Given the description of an element on the screen output the (x, y) to click on. 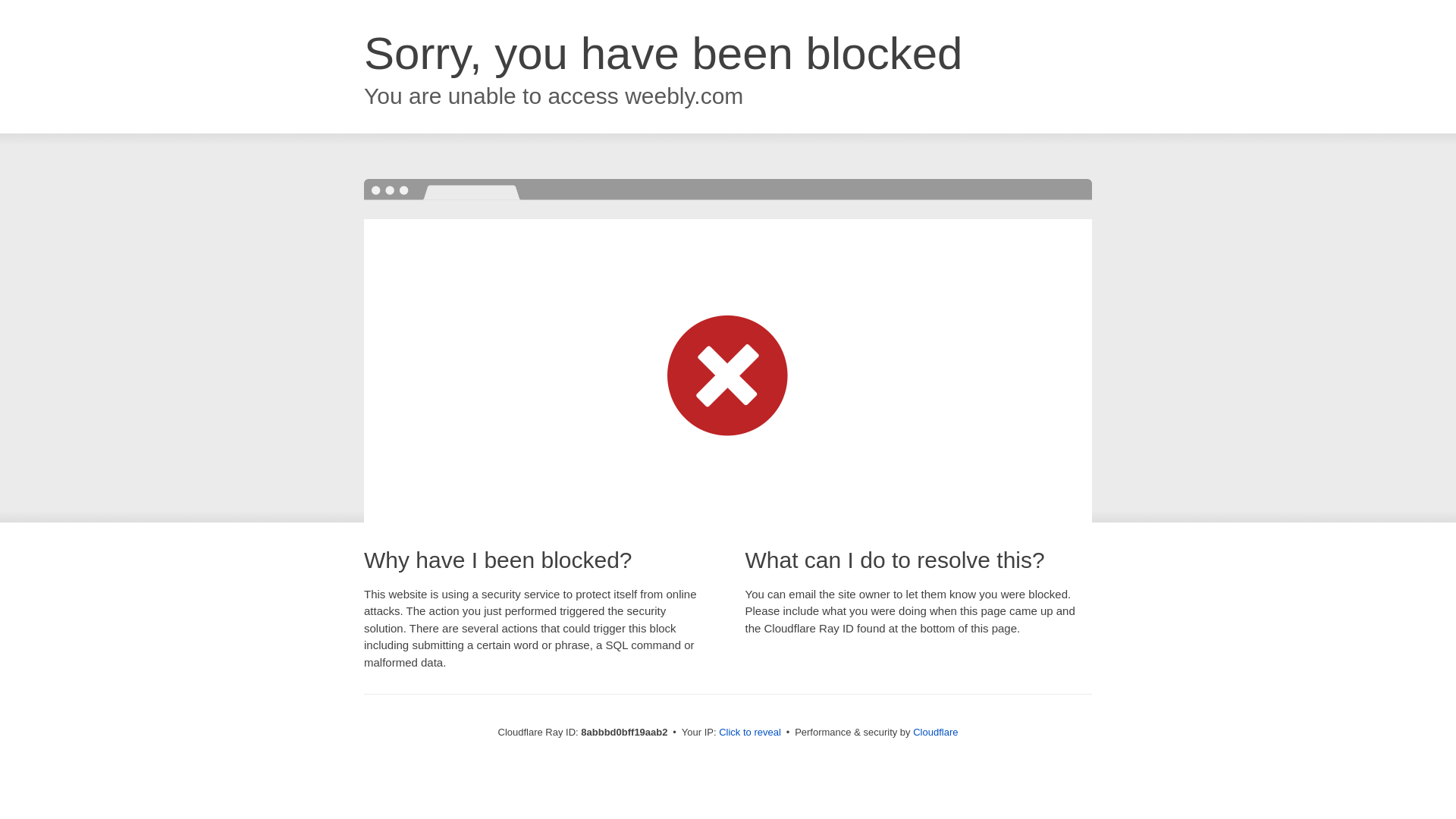
Cloudflare (935, 731)
Click to reveal (749, 732)
